Given the description of an element on the screen output the (x, y) to click on. 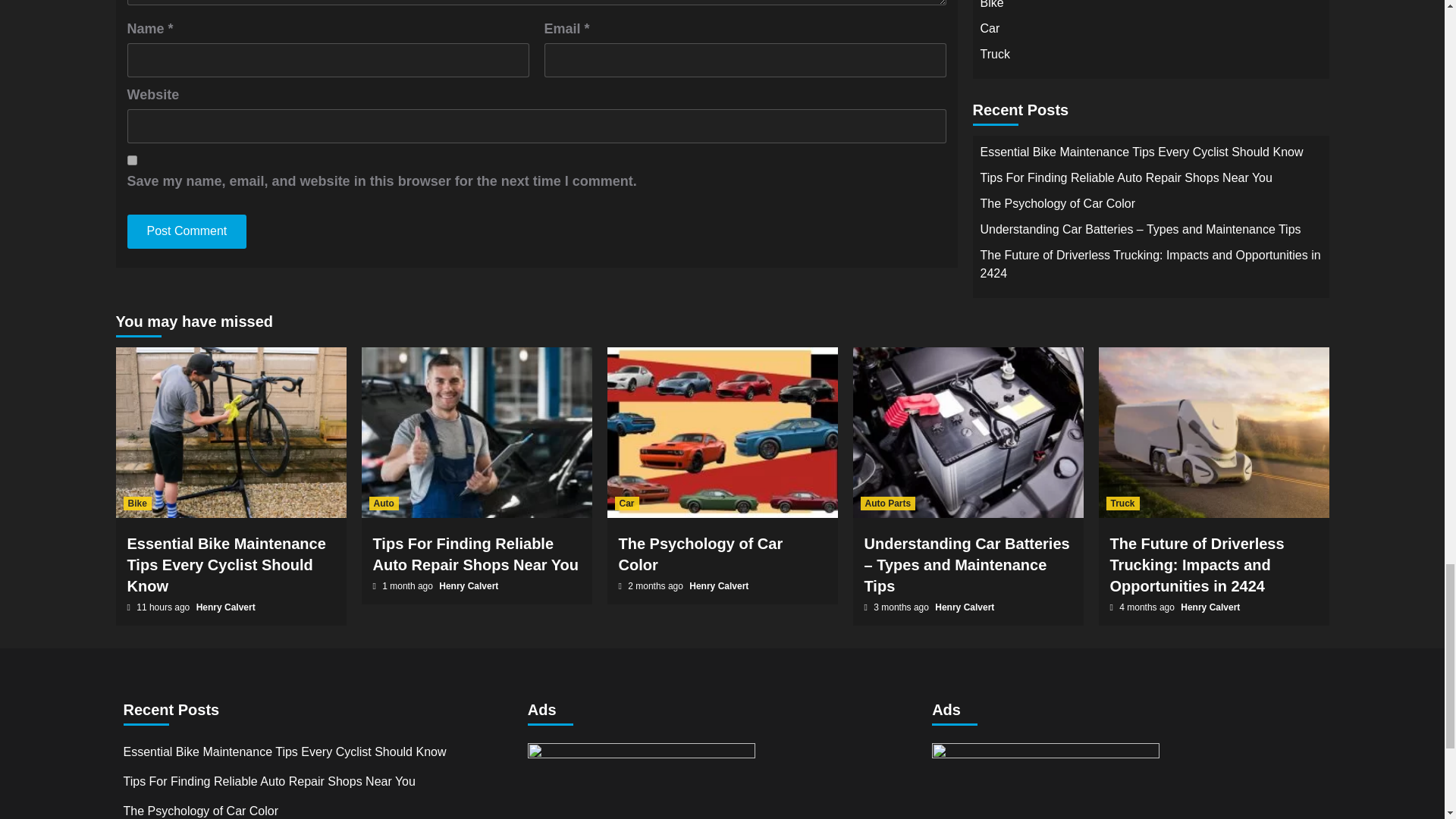
yes (132, 160)
Post Comment (187, 231)
Post Comment (187, 231)
